Given the description of an element on the screen output the (x, y) to click on. 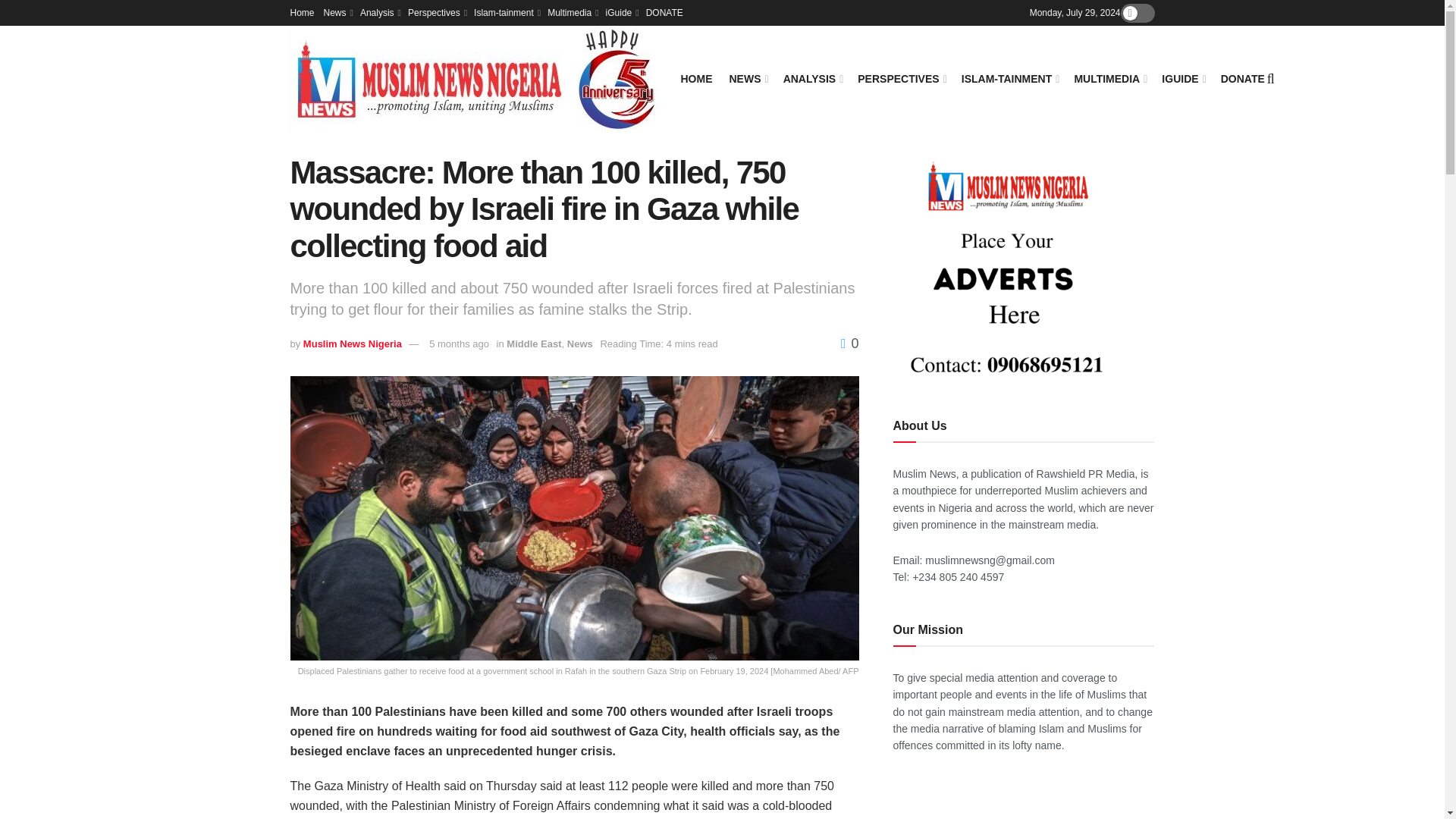
Analysis (378, 12)
News (336, 12)
Multimedia (571, 12)
HOME (697, 78)
DONATE (664, 12)
Islam-tainment (506, 12)
iGuide (621, 12)
Home (301, 12)
NEWS (748, 78)
Perspectives (435, 12)
